Given the description of an element on the screen output the (x, y) to click on. 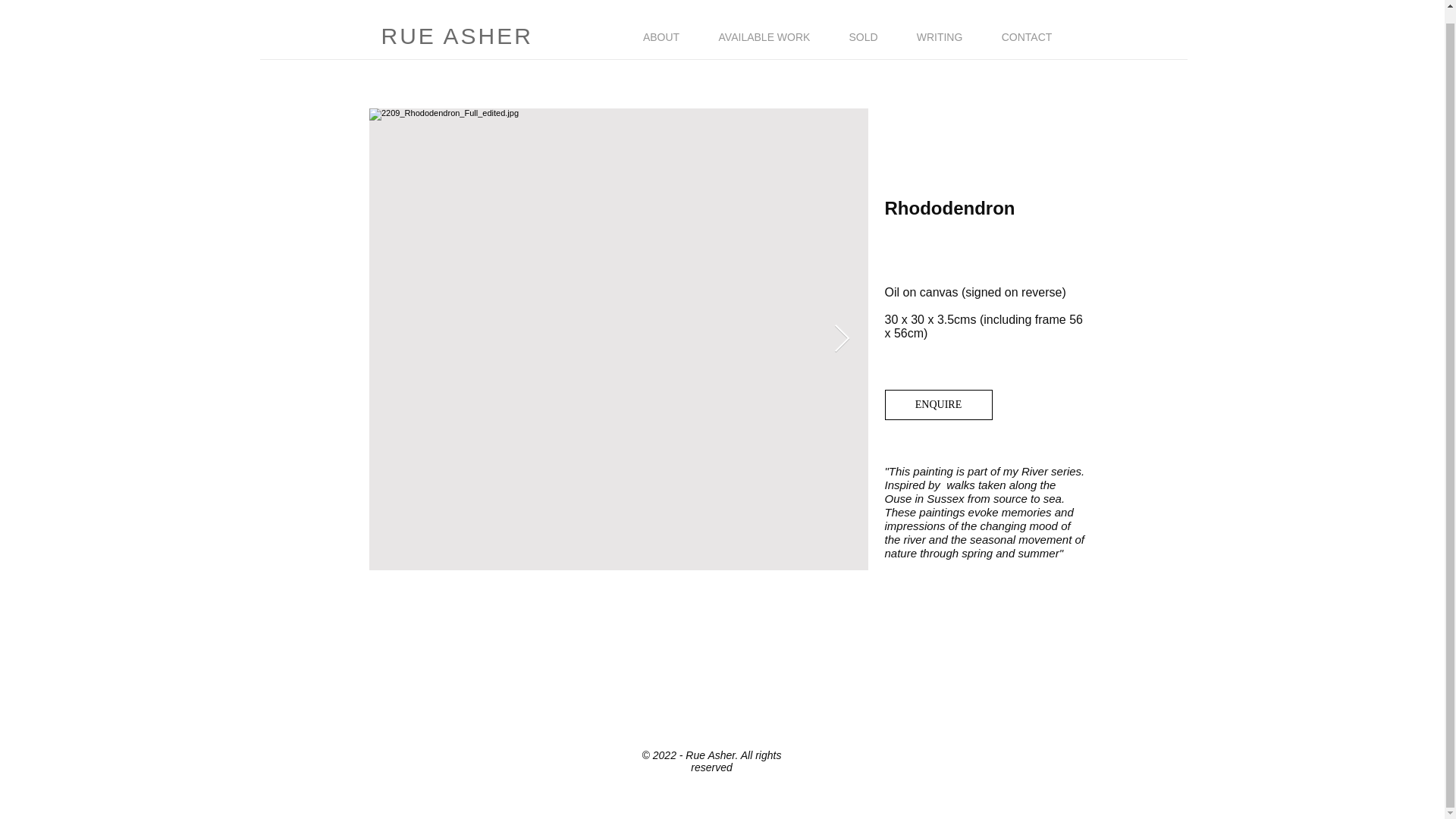
WRITING (938, 37)
ENQUIRE (937, 404)
SOLD (862, 37)
CONTACT (1025, 37)
ABOUT (660, 37)
RUE ASHER (456, 35)
AVAILABLE WORK (763, 37)
